Given the description of an element on the screen output the (x, y) to click on. 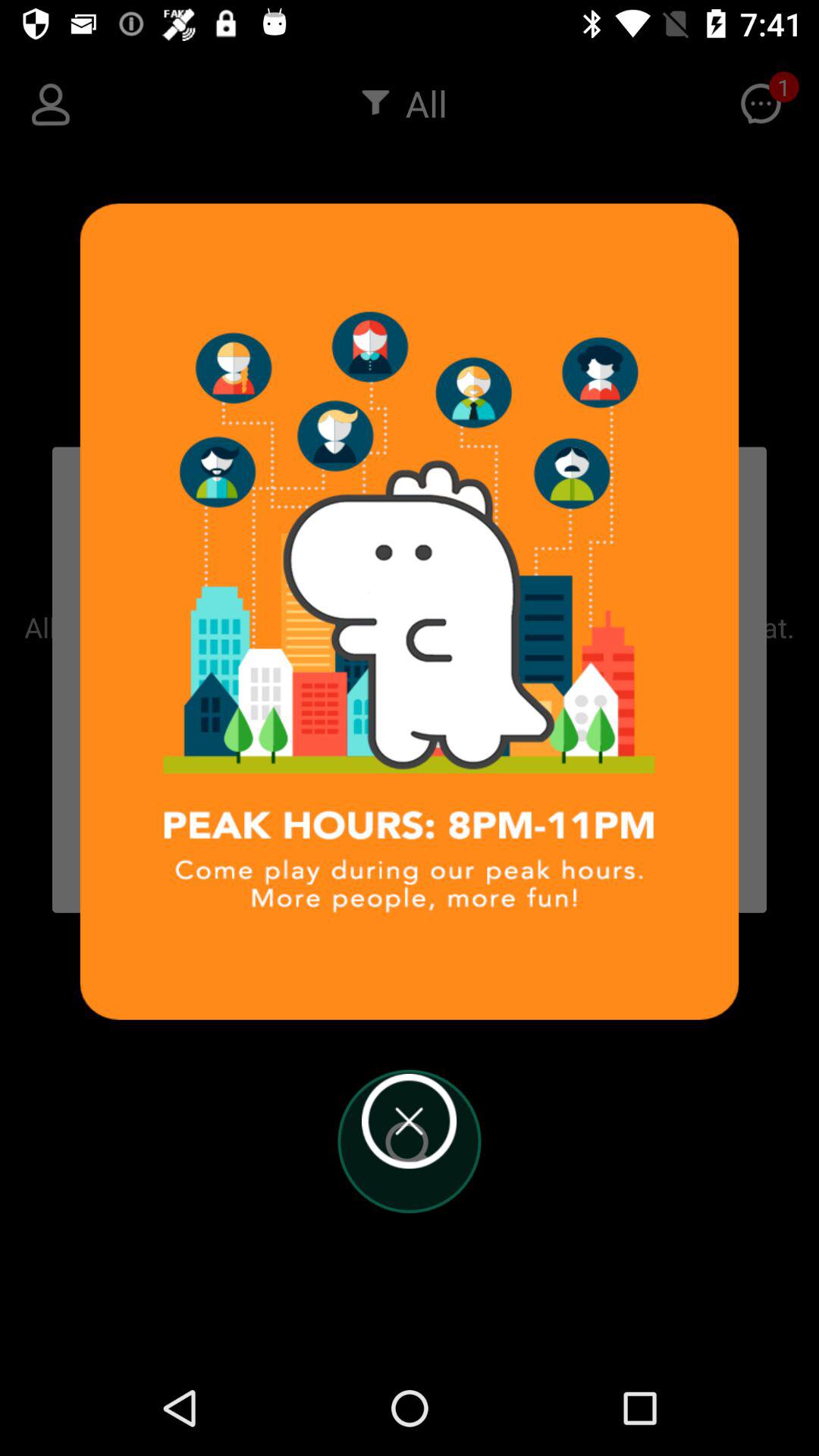
close button (408, 1120)
